Given the description of an element on the screen output the (x, y) to click on. 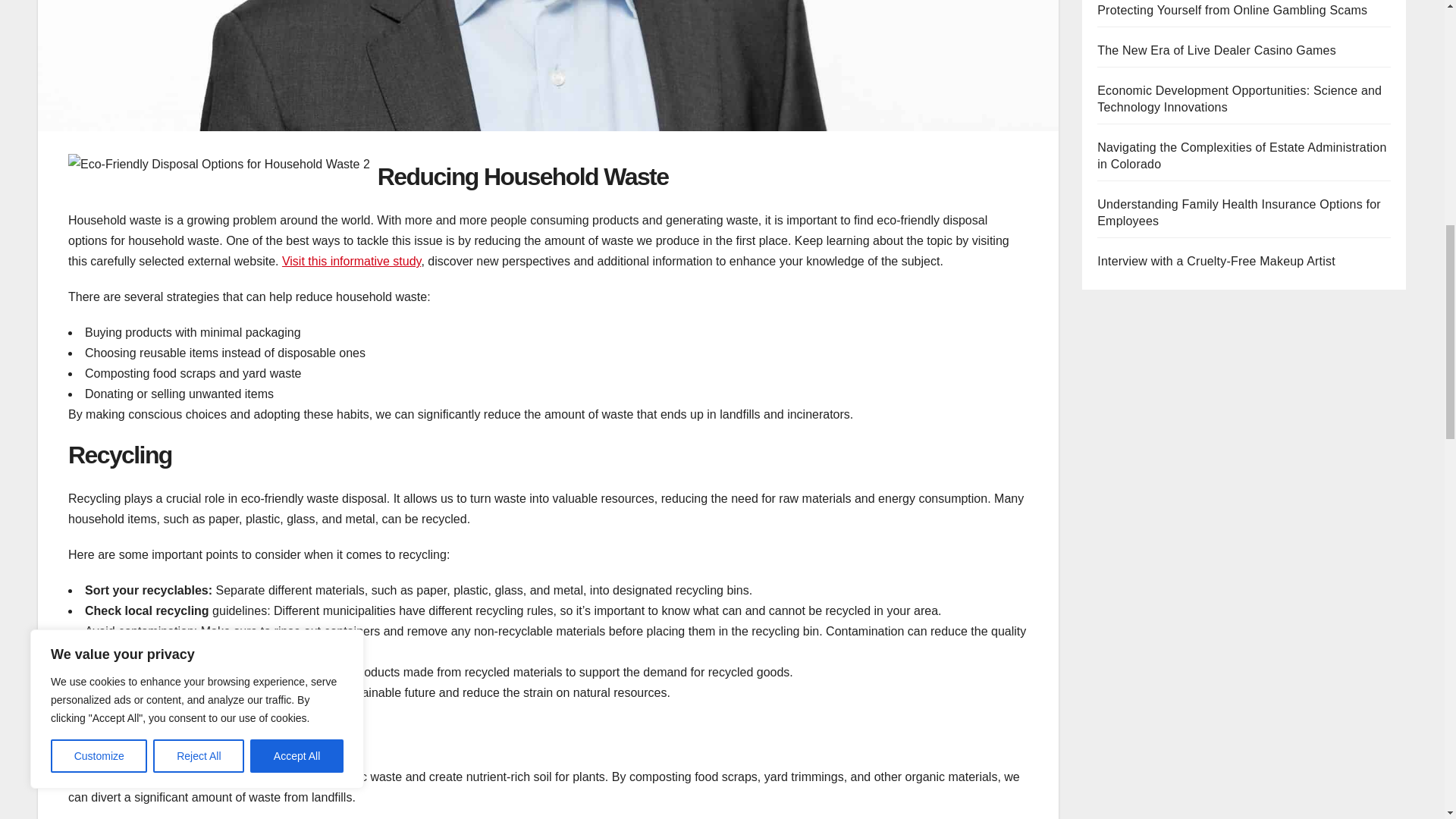
Visit this informative study (351, 260)
